Given the description of an element on the screen output the (x, y) to click on. 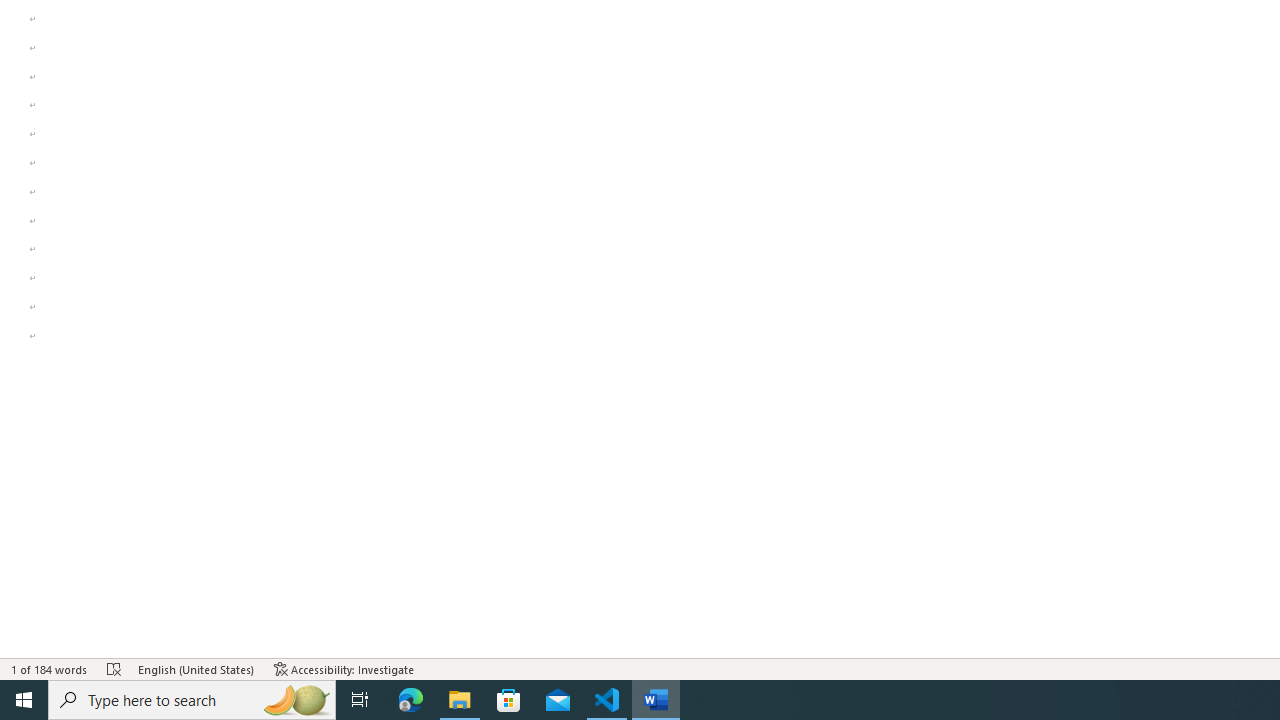
Word Count 1 of 184 words (49, 668)
